Given the description of an element on the screen output the (x, y) to click on. 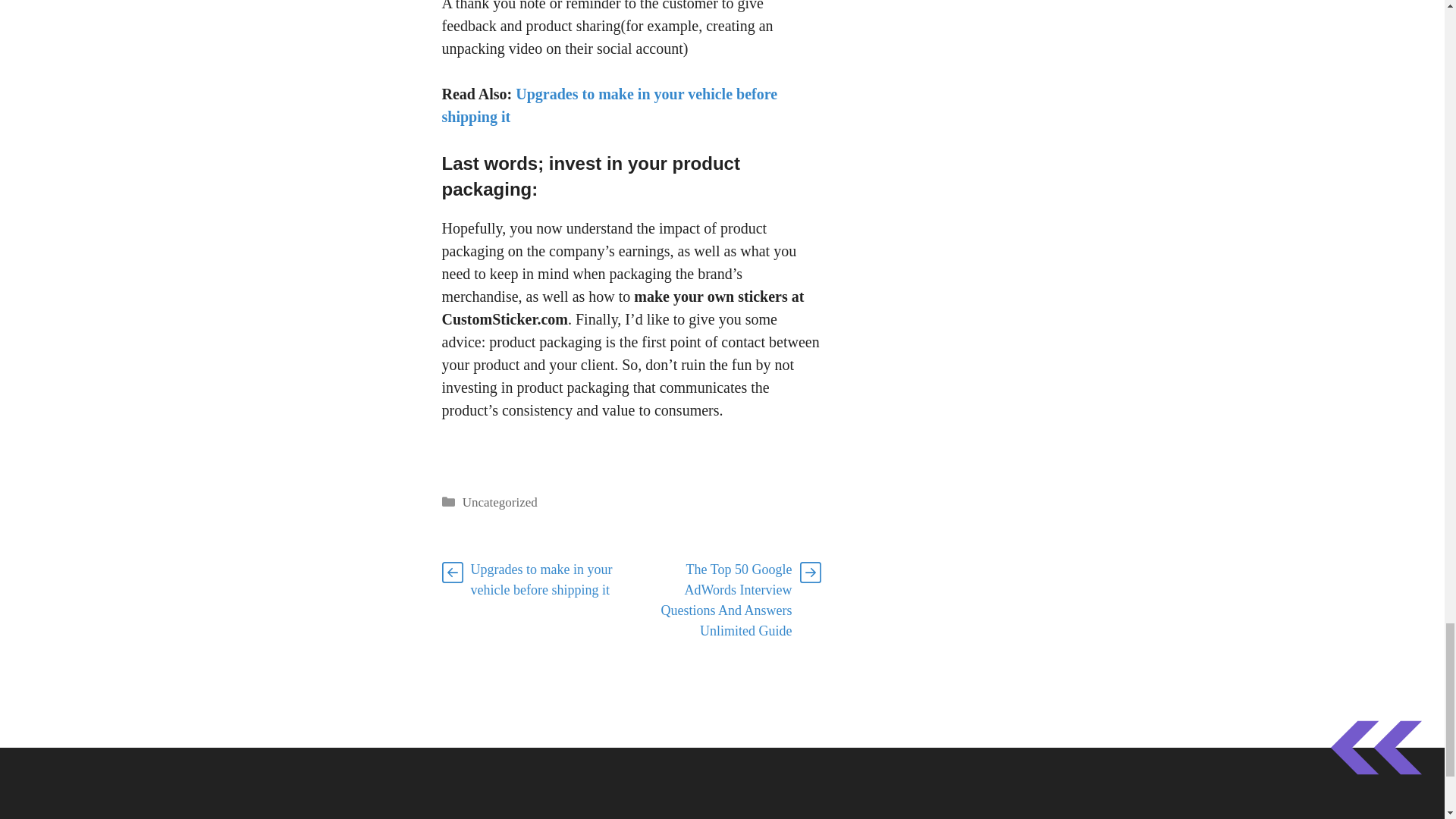
Upgrades to make in your vehicle before shipping it (609, 105)
Upgrades to make in your vehicle before shipping it (540, 579)
Uncategorized (500, 502)
